Given the description of an element on the screen output the (x, y) to click on. 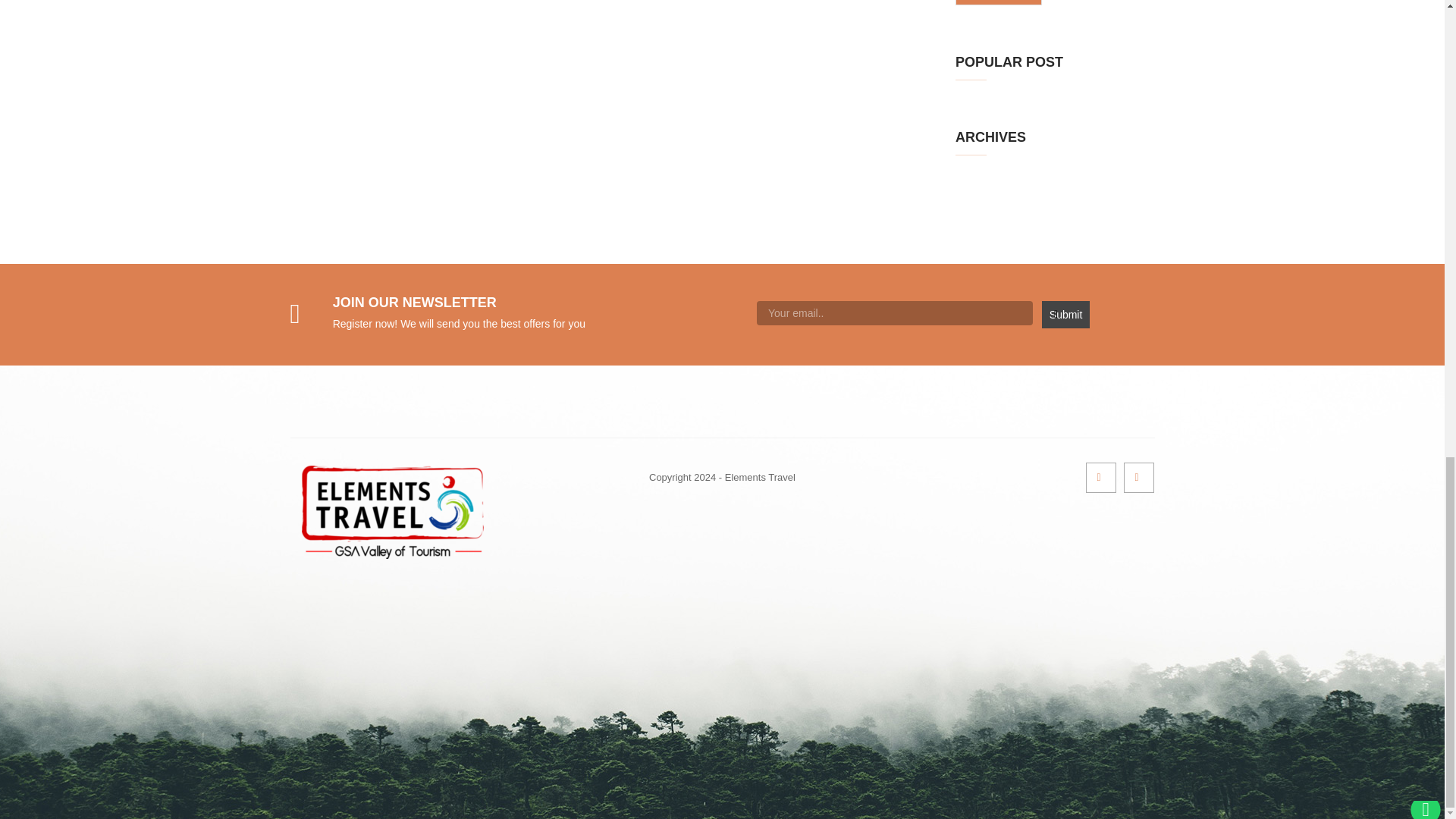
Subscribe (998, 2)
Submit (1065, 314)
Subscribe (998, 2)
Submit (1065, 314)
